Given the description of an element on the screen output the (x, y) to click on. 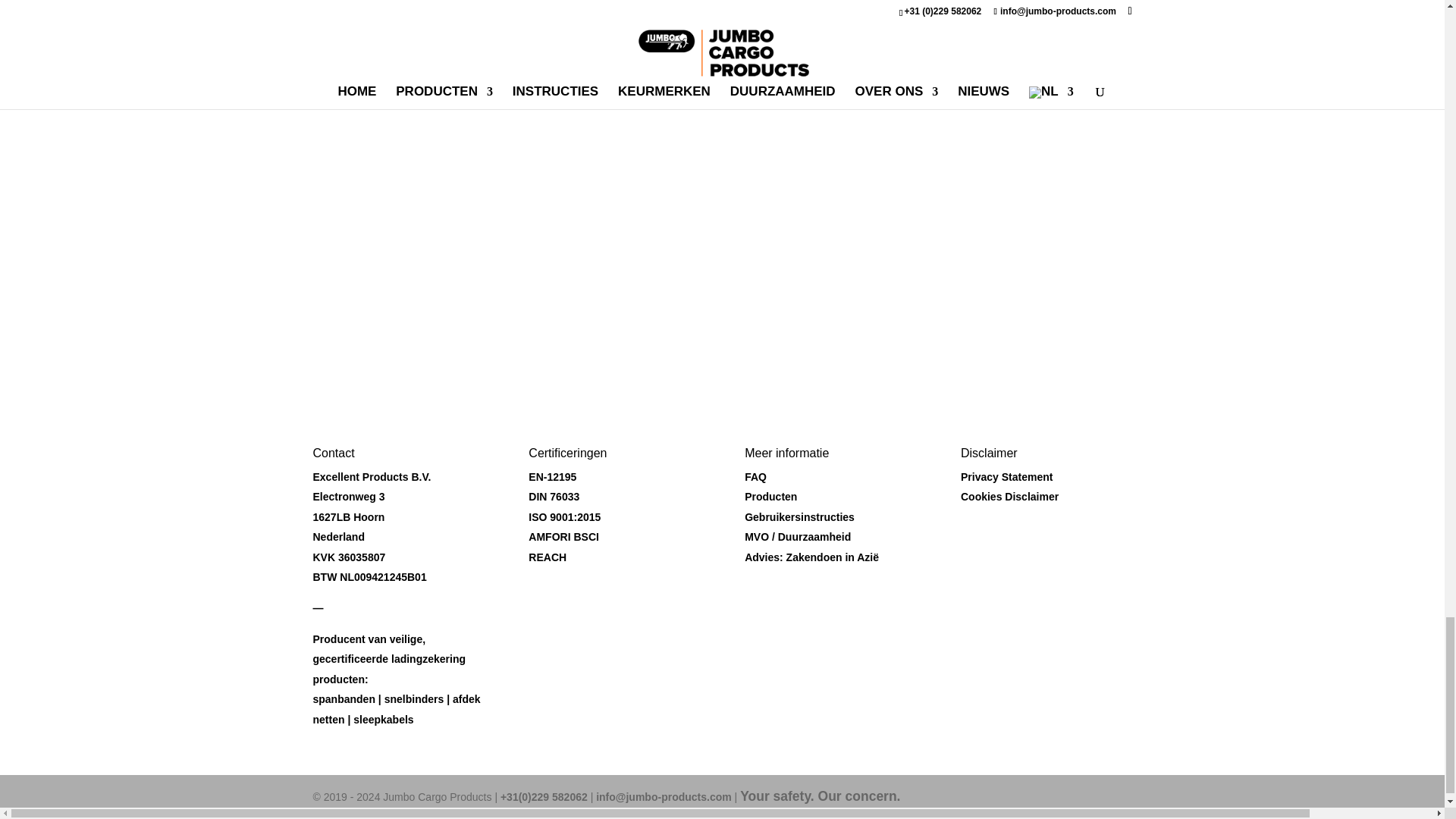
FAQ (755, 476)
spanbanden (343, 698)
snelbinders (414, 698)
Gebruikersinstructies (799, 517)
afdek netten (396, 708)
Producten (770, 496)
sleepkabels (383, 719)
